Given the description of an element on the screen output the (x, y) to click on. 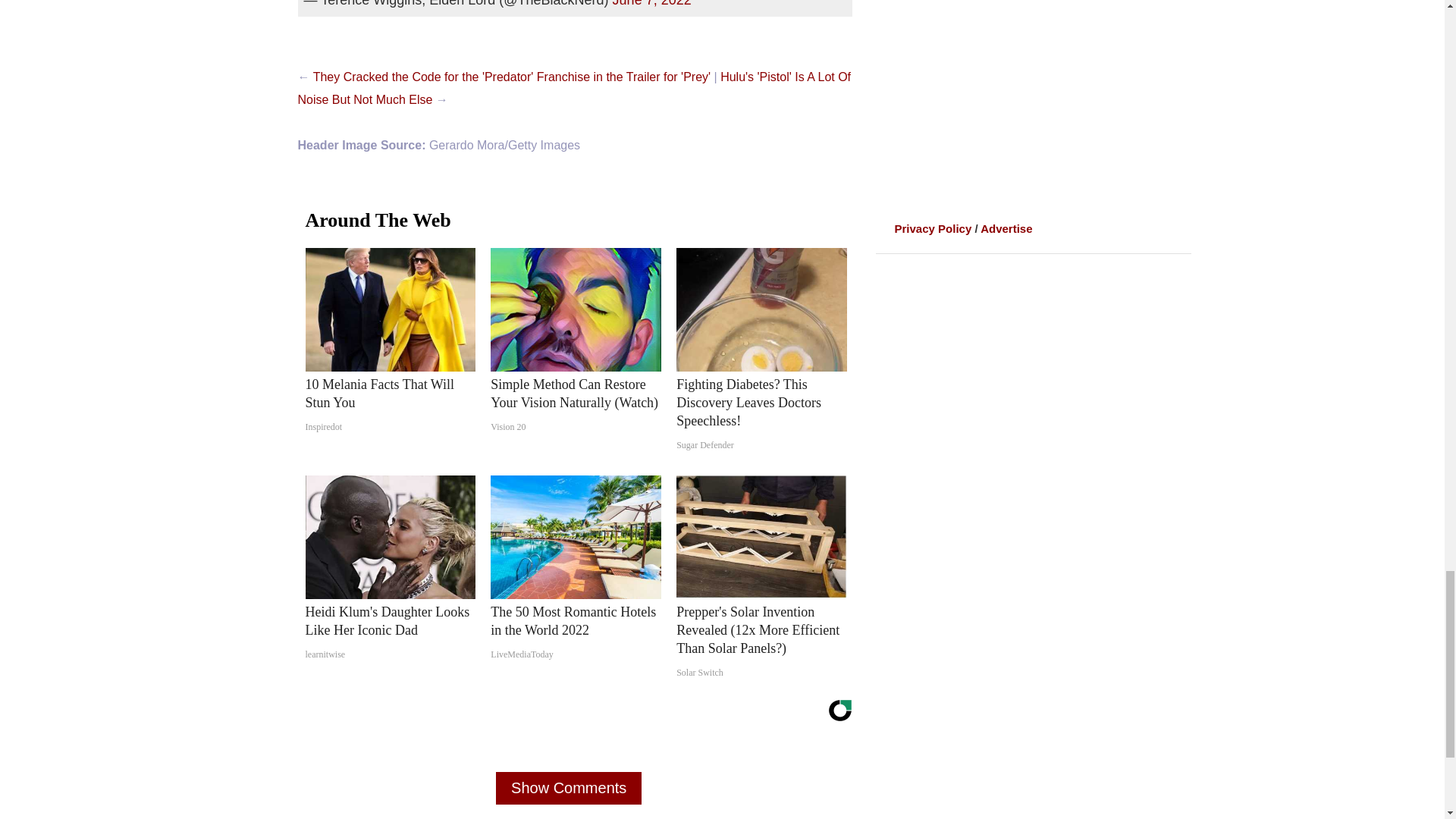
Hulu's 'Pistol' Is A Lot Of Noise But Not Much Else (573, 88)
June 7, 2022 (651, 3)
